Given the description of an element on the screen output the (x, y) to click on. 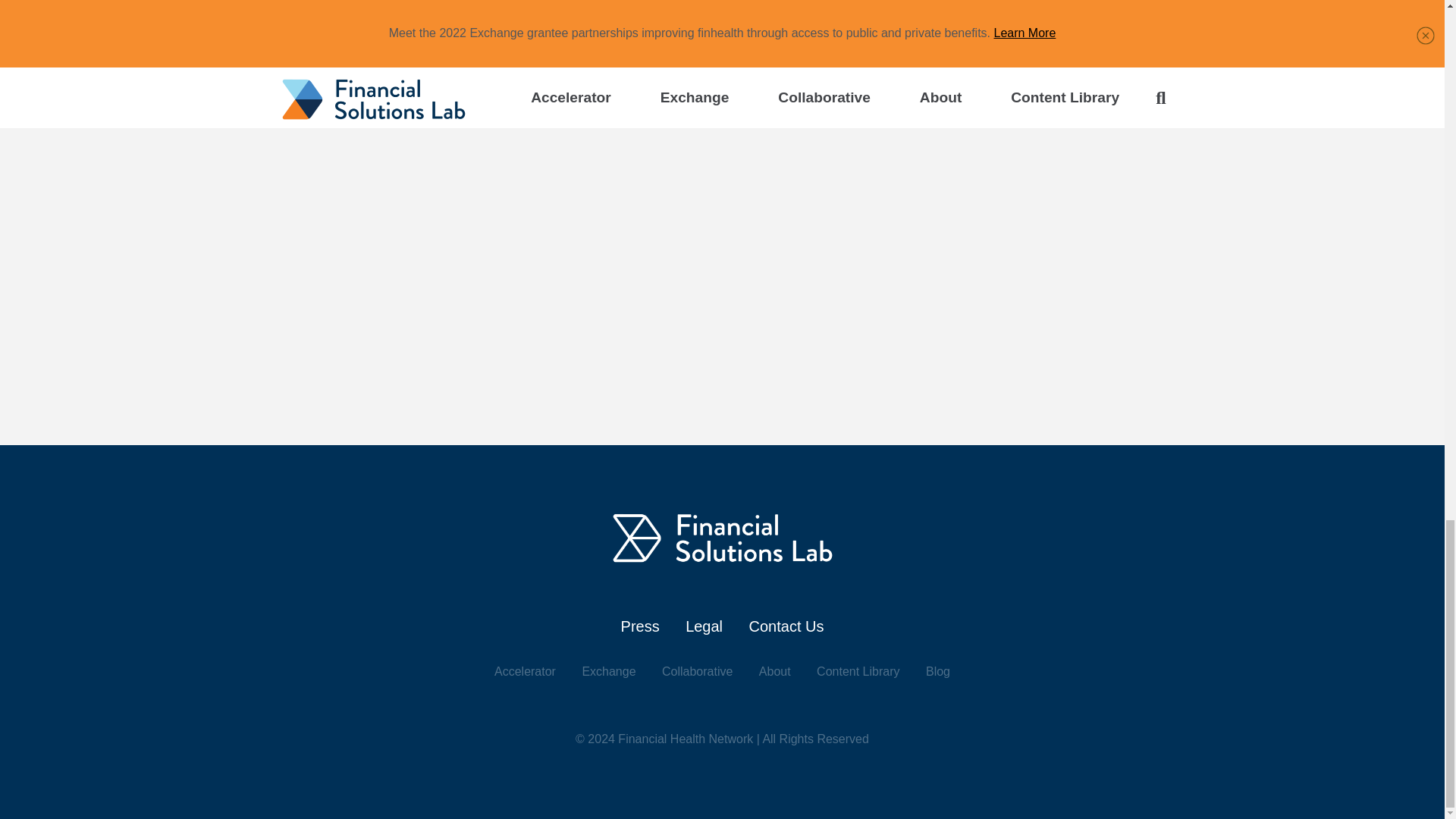
Accelerator (525, 671)
Exchange (607, 671)
Collaborative (697, 671)
Contact Us (786, 626)
About (774, 671)
Press (640, 626)
Legal (703, 626)
Content Library (857, 671)
Blog (938, 671)
